Given the description of an element on the screen output the (x, y) to click on. 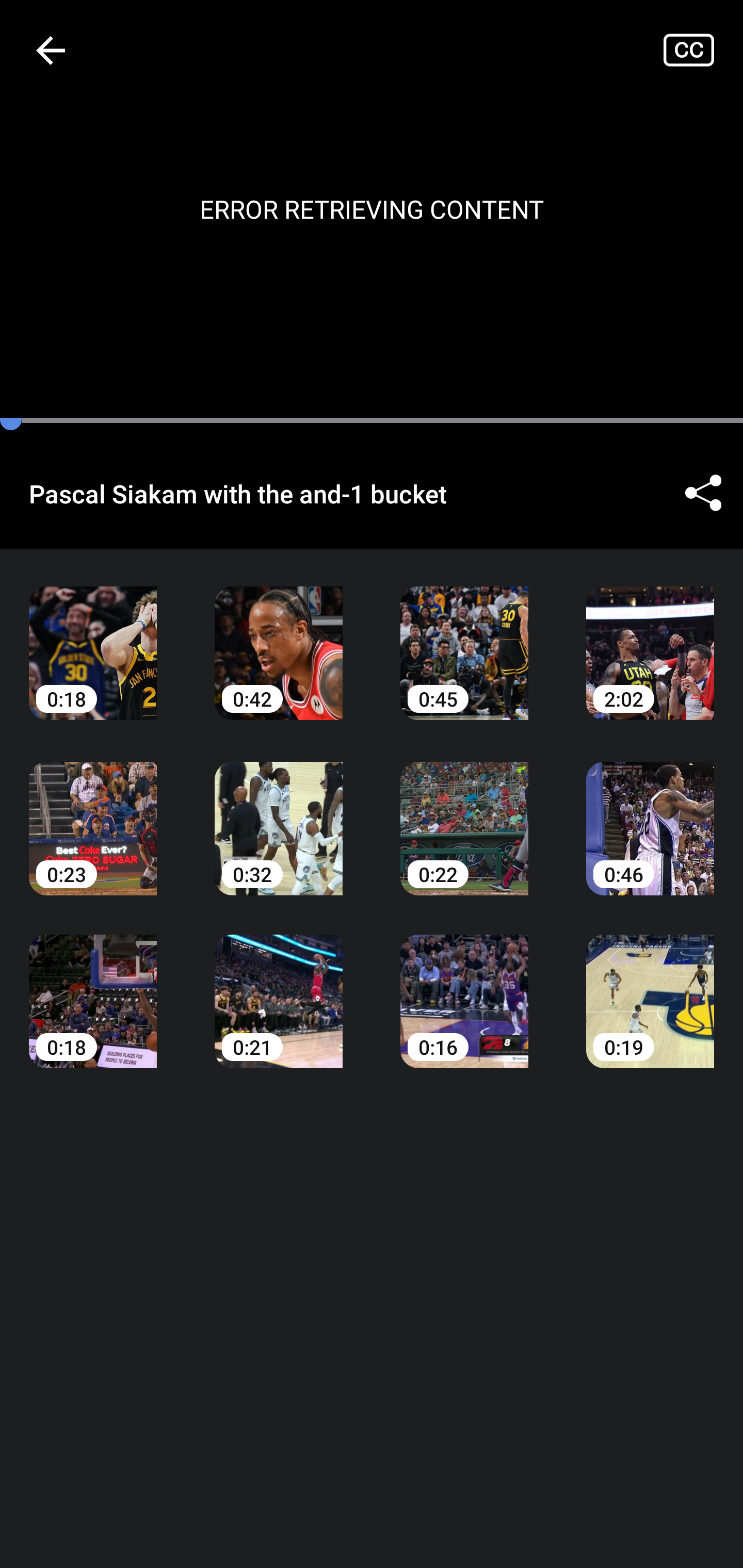
Navigate up (50, 50)
Closed captions  (703, 49)
Share © (703, 493)
0:18 (92, 637)
0:42 (278, 637)
0:45 (464, 637)
2:02 (650, 637)
0:23 (92, 813)
0:32 (278, 813)
0:22 (464, 813)
0:46 (650, 813)
0:18 (92, 987)
0:21 (278, 987)
0:16 (464, 987)
0:19 (650, 987)
